Given the description of an element on the screen output the (x, y) to click on. 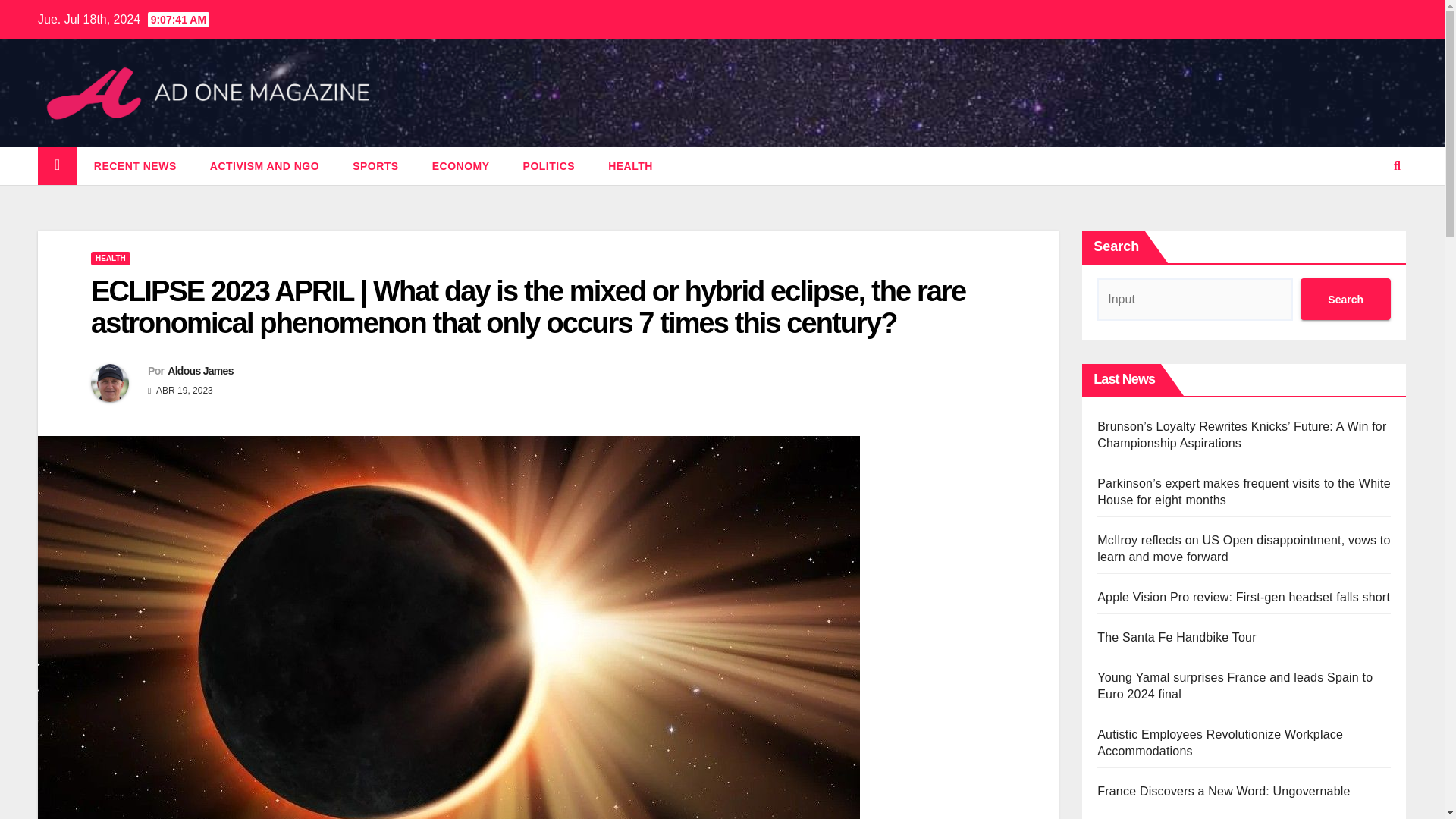
Activism and NGO (264, 166)
Economy (460, 166)
RECENT NEWS (135, 166)
HEALTH (630, 166)
Politics (549, 166)
ECONOMY (460, 166)
Sports (375, 166)
ACTIVISM AND NGO (264, 166)
Health (630, 166)
HEALTH (110, 258)
SPORTS (375, 166)
Recent news (135, 166)
POLITICS (549, 166)
Aldous James (199, 370)
